Given the description of an element on the screen output the (x, y) to click on. 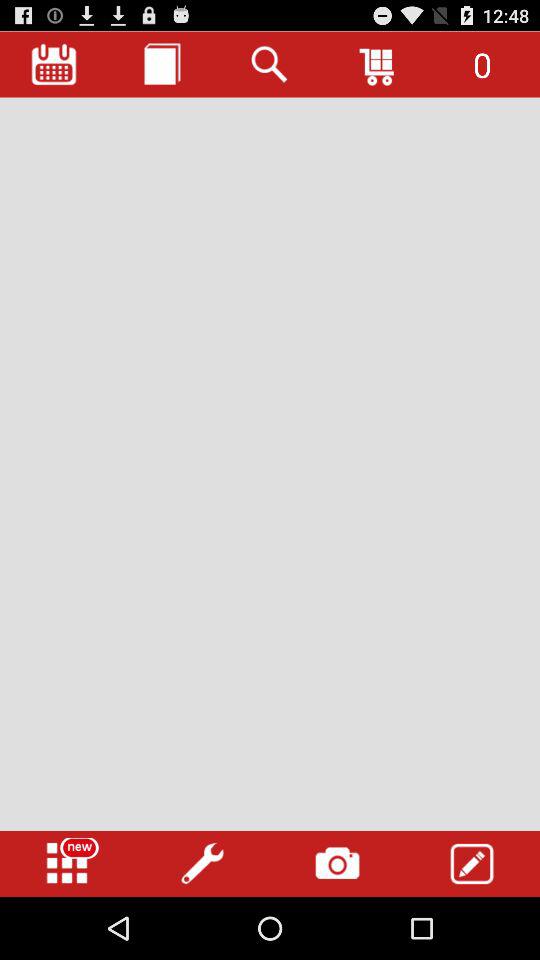
go to search (270, 64)
